Given the description of an element on the screen output the (x, y) to click on. 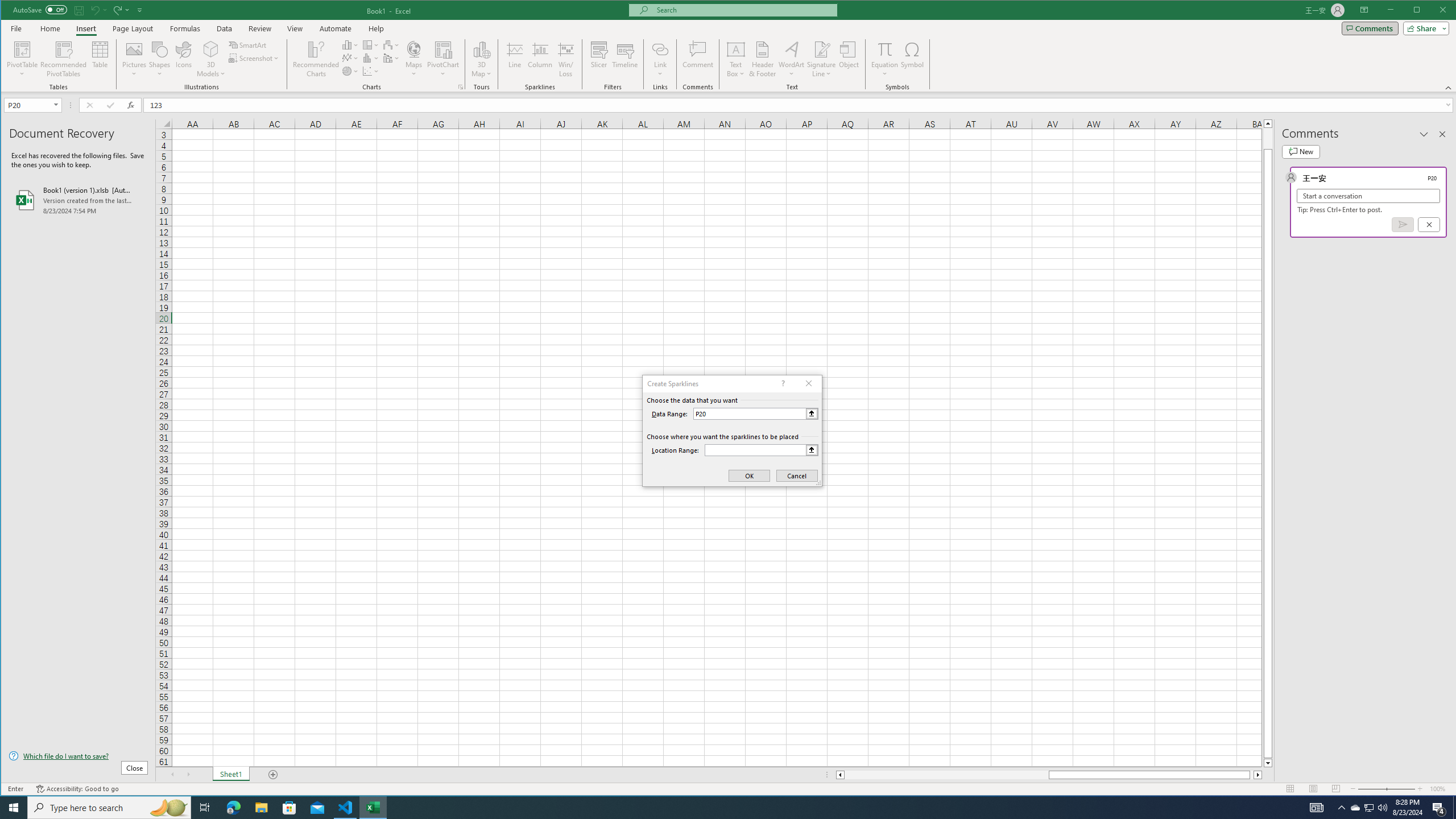
Insert Pie or Doughnut Chart (350, 70)
Insert Statistic Chart (371, 57)
PivotTable (22, 48)
Page up (1267, 138)
Icons (183, 59)
Insert Combo Chart (391, 57)
